Given the description of an element on the screen output the (x, y) to click on. 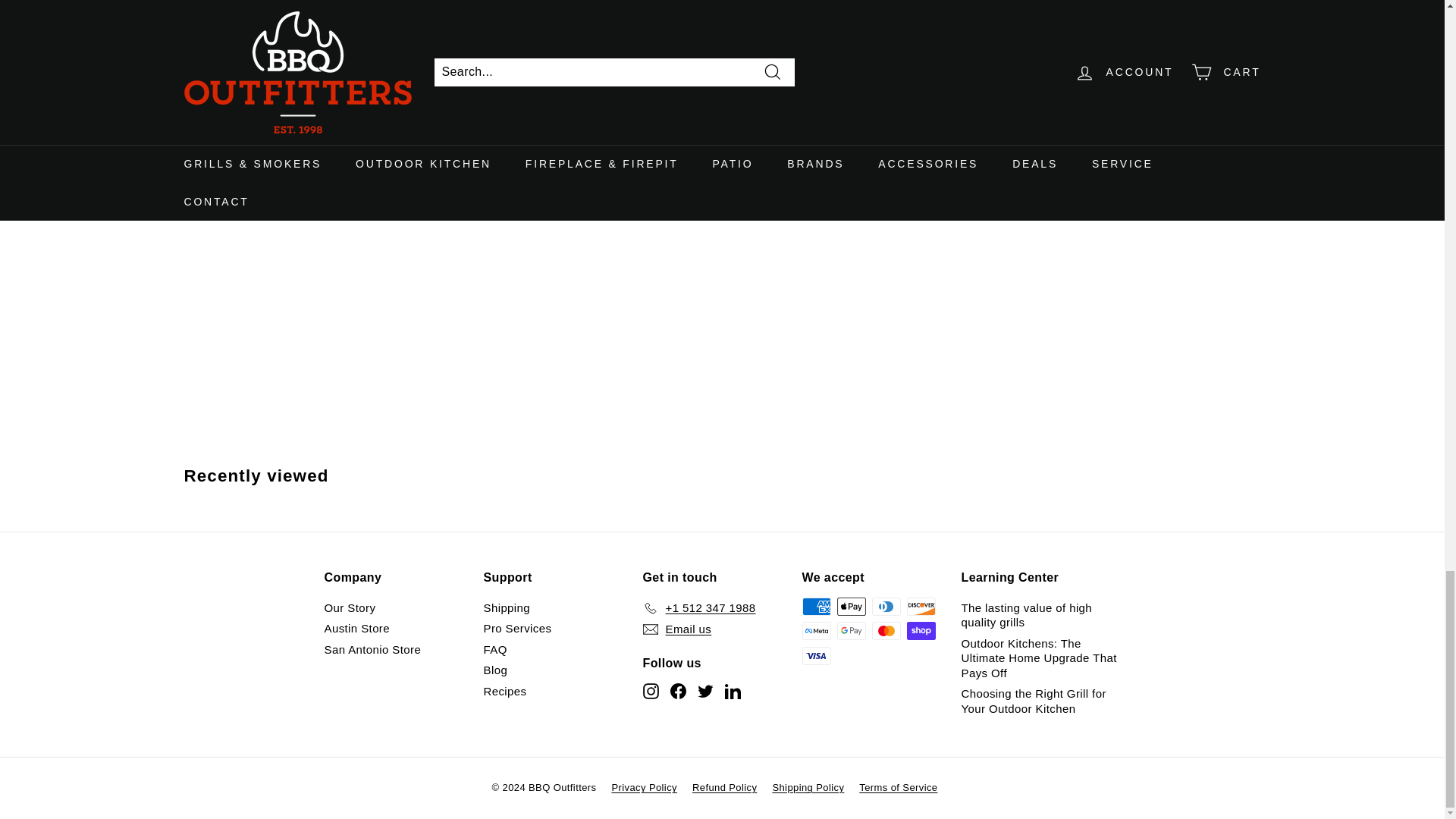
Coyote Grills (337, 117)
BBQ Outfitters on Facebook (677, 690)
BBQ Outfitters on Instagram (651, 690)
BBQ Outfitters on Twitter (705, 690)
